Given the description of an element on the screen output the (x, y) to click on. 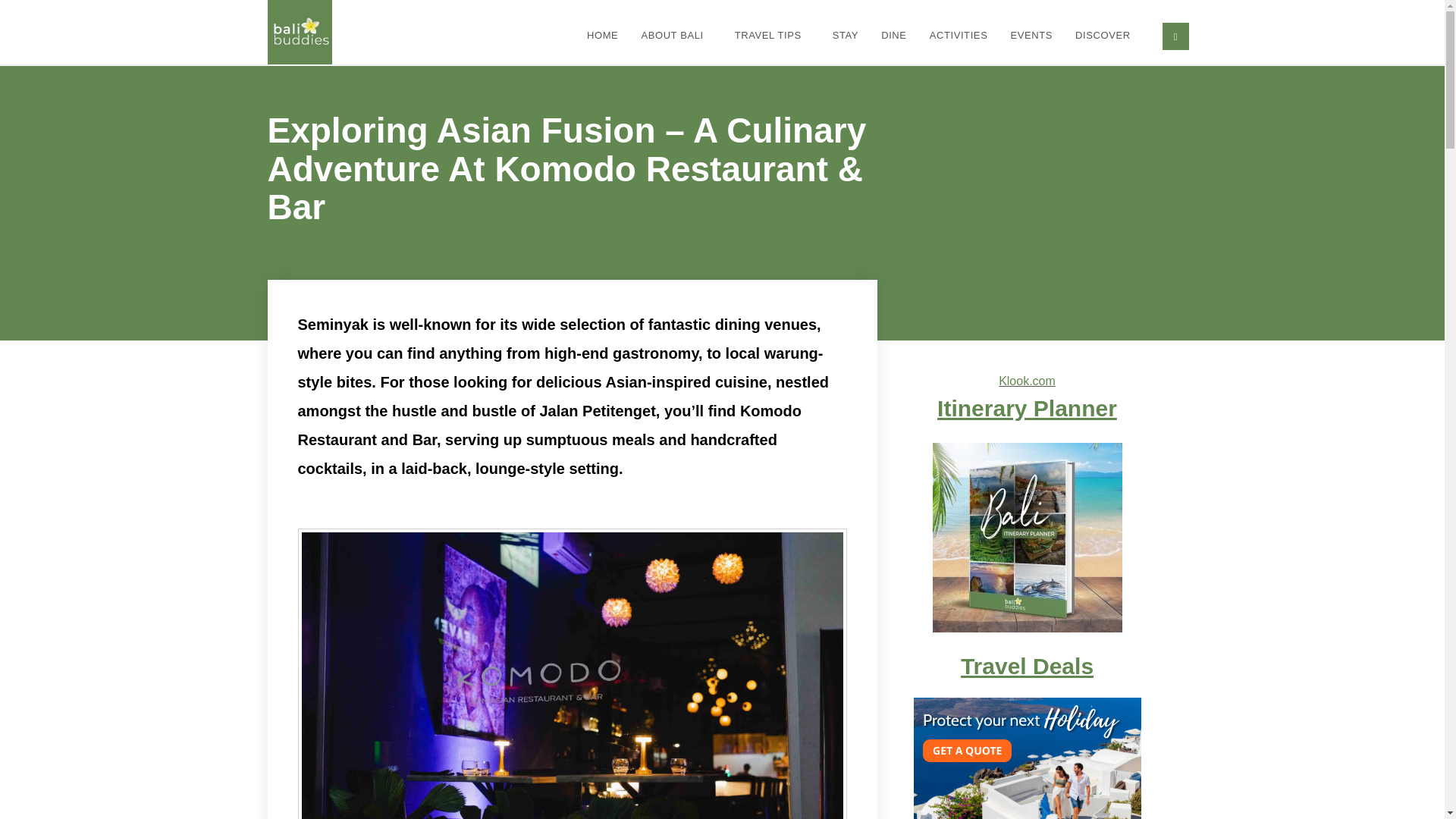
EVENTS (1031, 35)
DISCOVER (1107, 35)
STAY (845, 35)
DINE (893, 35)
ABOUT BALI (675, 35)
HOME (601, 35)
TRAVEL TIPS (772, 35)
ACTIVITIES (958, 35)
